Given the description of an element on the screen output the (x, y) to click on. 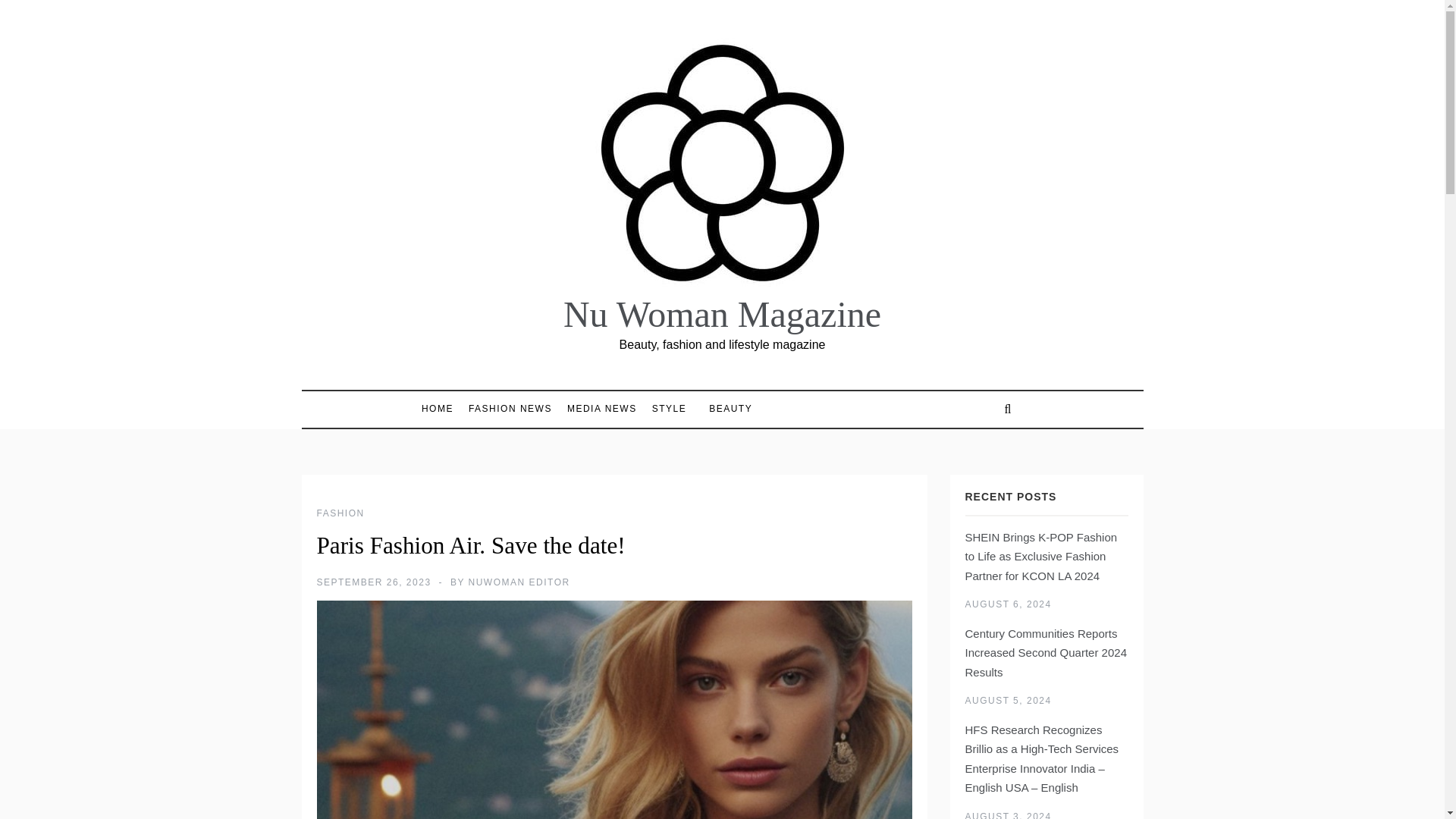
MEDIA NEWS (602, 408)
NUWOMAN EDITOR (519, 582)
FASHION NEWS (510, 408)
SEPTEMBER 26, 2023 (373, 582)
HOME (441, 408)
FASHION (341, 512)
BEAUTY (723, 408)
Paris Fashion Air. Save the date! (614, 709)
